Given the description of an element on the screen output the (x, y) to click on. 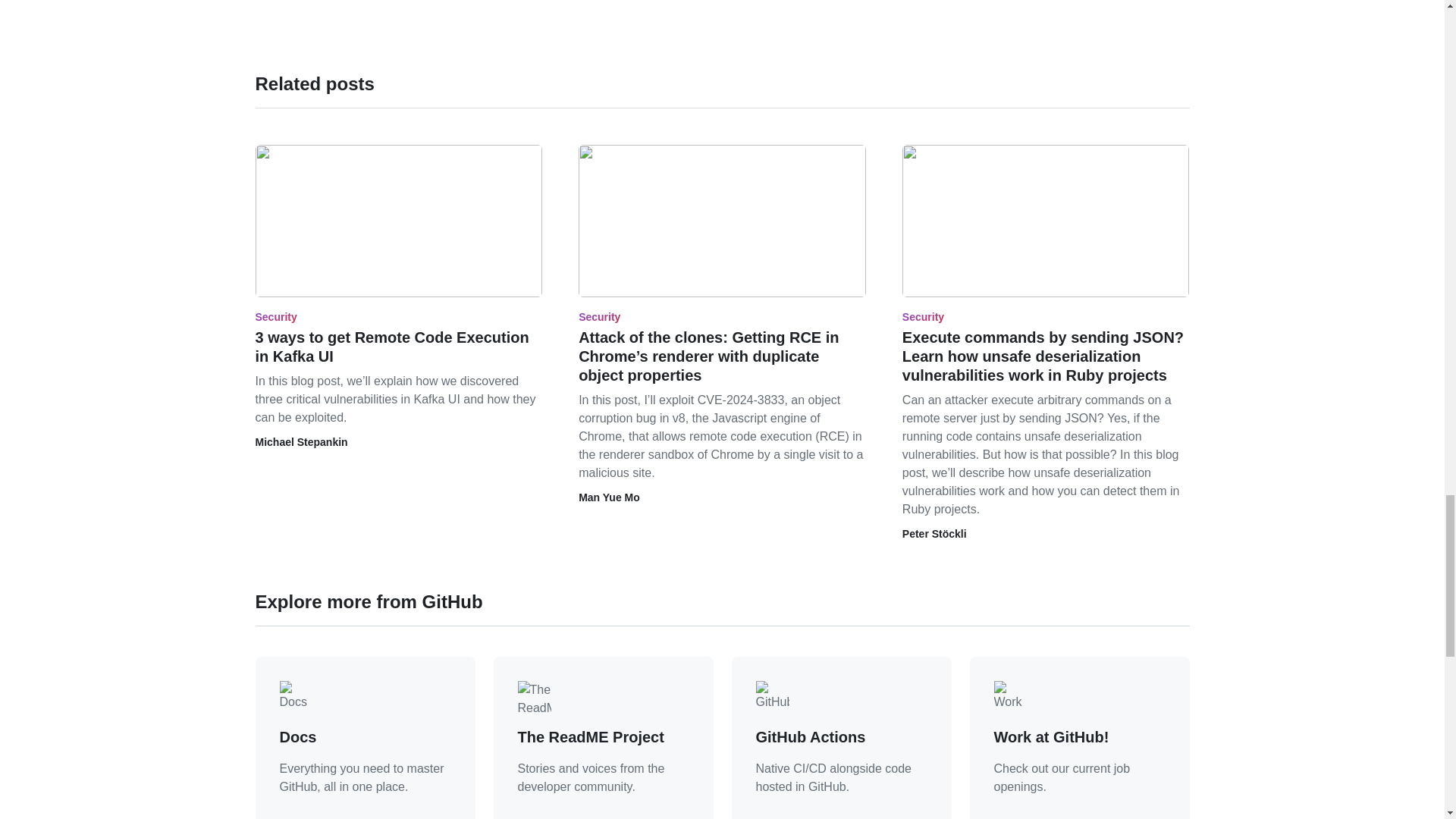
Posts by Man Yue Mo (609, 497)
Posts by Michael Stepankin (300, 441)
